Given the description of an element on the screen output the (x, y) to click on. 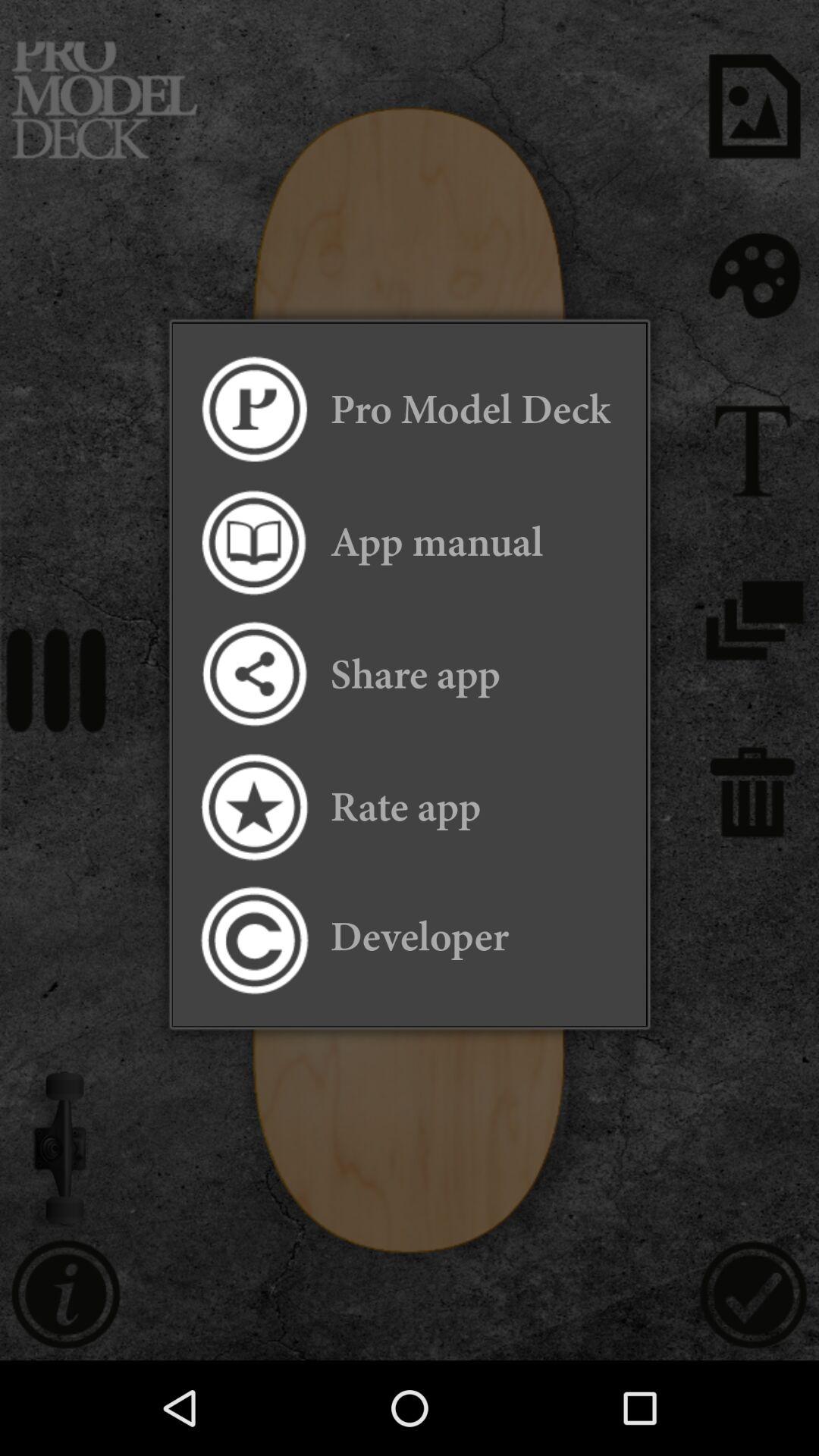
click item to the left of the developer item (253, 939)
